Given the description of an element on the screen output the (x, y) to click on. 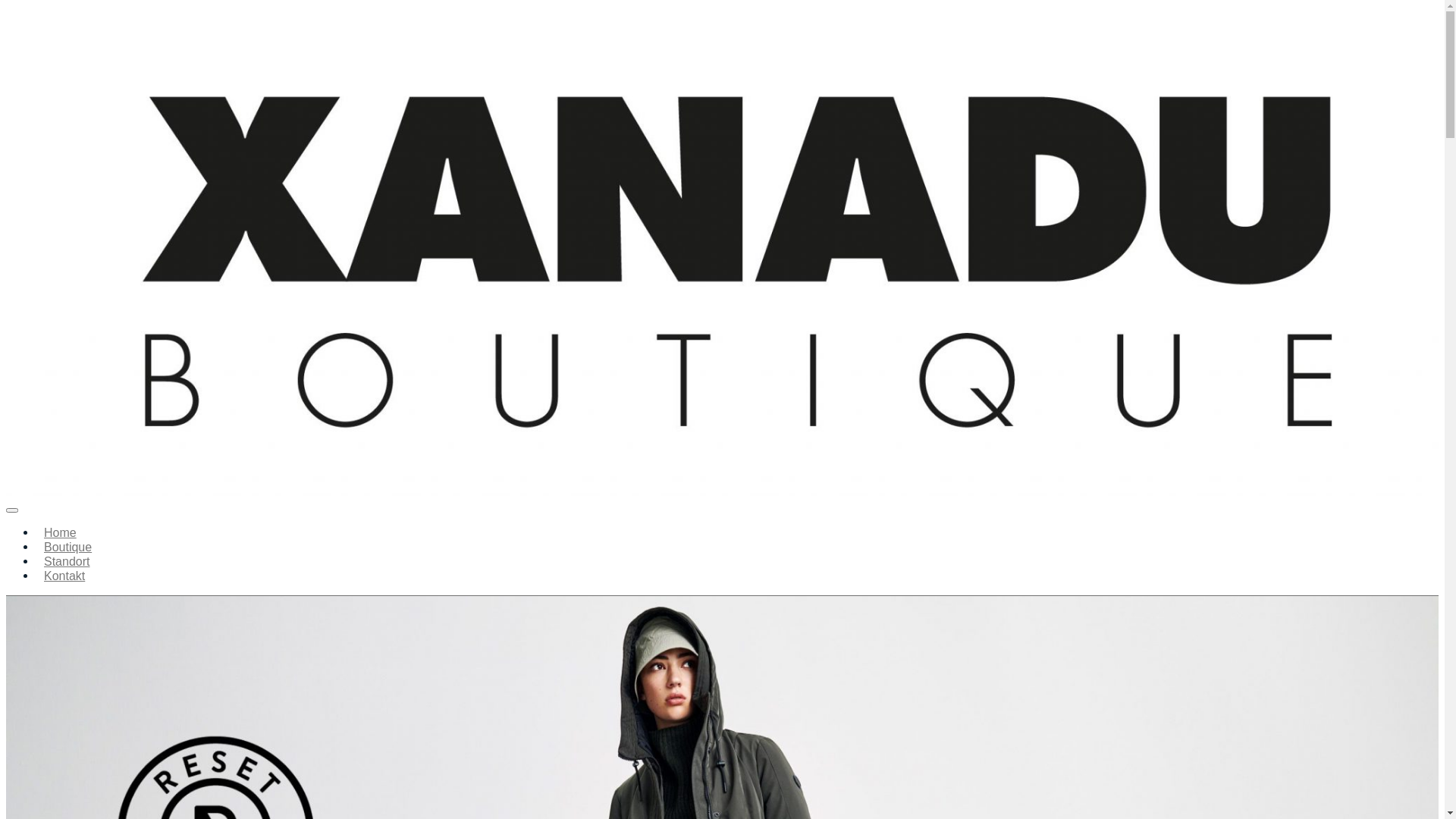
Standort Element type: text (66, 561)
Home Element type: text (60, 532)
Boutique Element type: text (67, 546)
Kontakt Element type: text (64, 575)
